Given the description of an element on the screen output the (x, y) to click on. 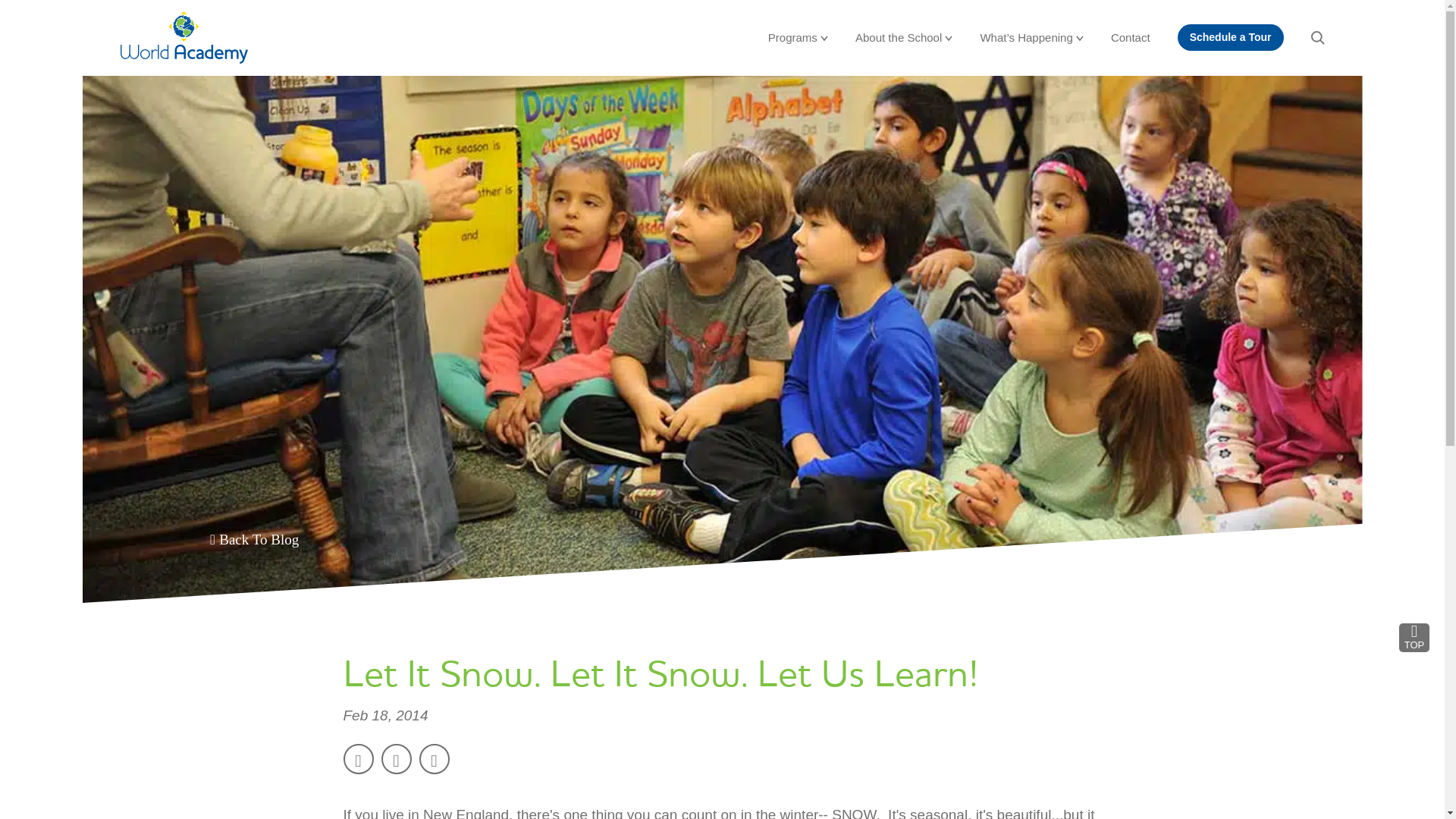
Schedule a Tour (1230, 37)
Contact (1130, 37)
